Given the description of an element on the screen output the (x, y) to click on. 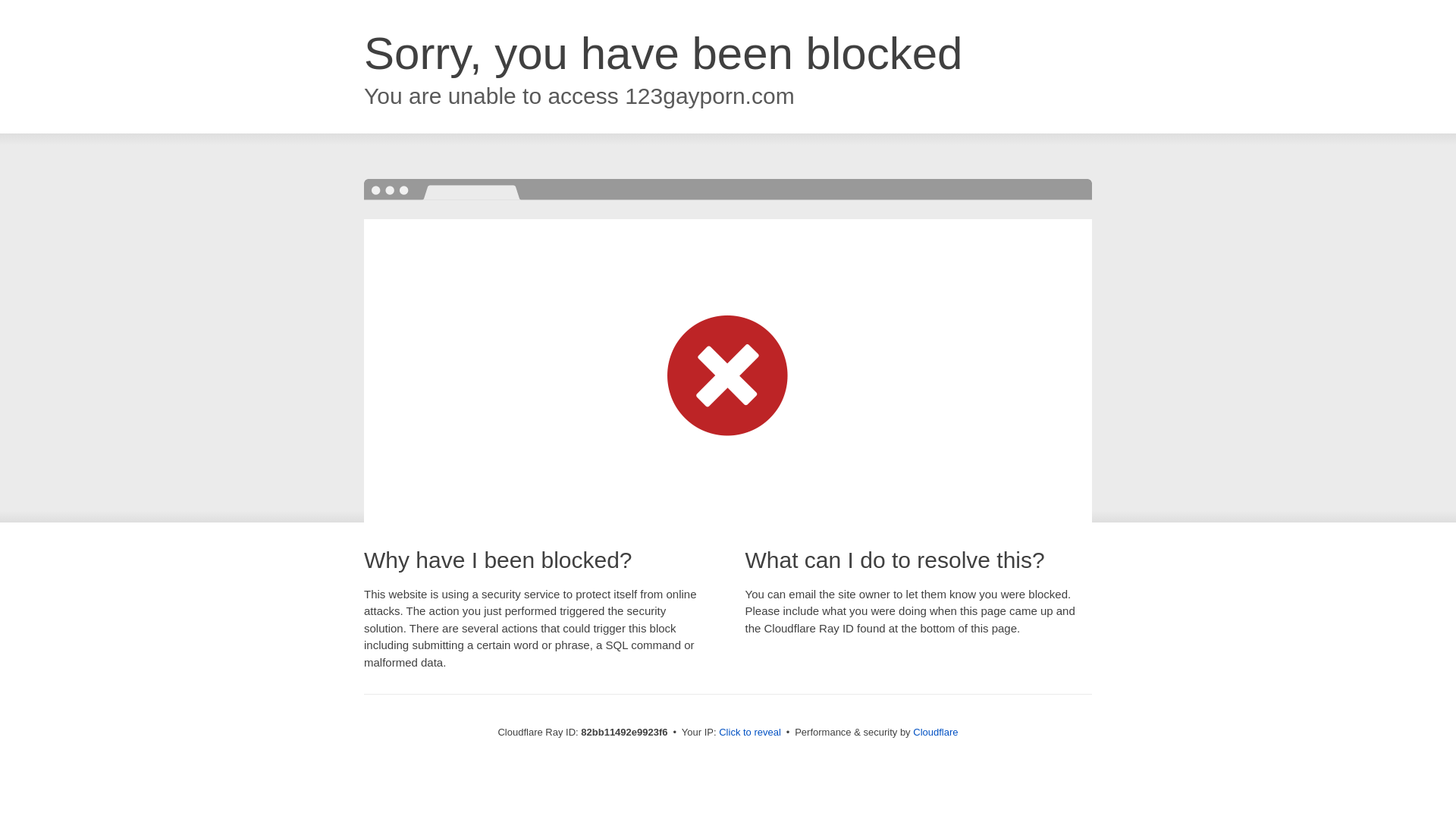
Cloudflare Element type: text (935, 731)
Click to reveal Element type: text (749, 732)
